Given the description of an element on the screen output the (x, y) to click on. 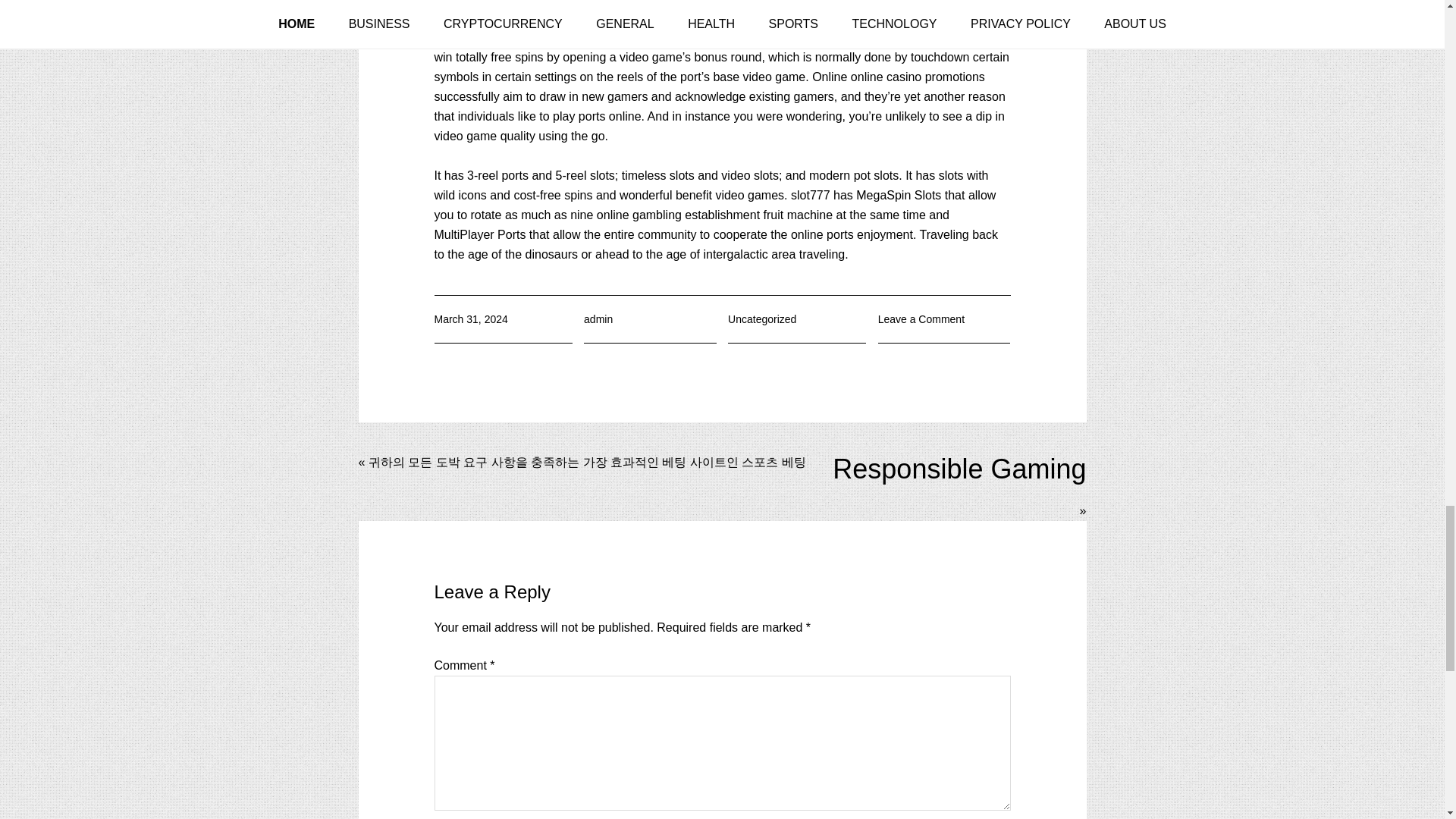
admin (597, 318)
Leave a Comment (920, 318)
Uncategorized (762, 318)
slot777 (809, 195)
